Given the description of an element on the screen output the (x, y) to click on. 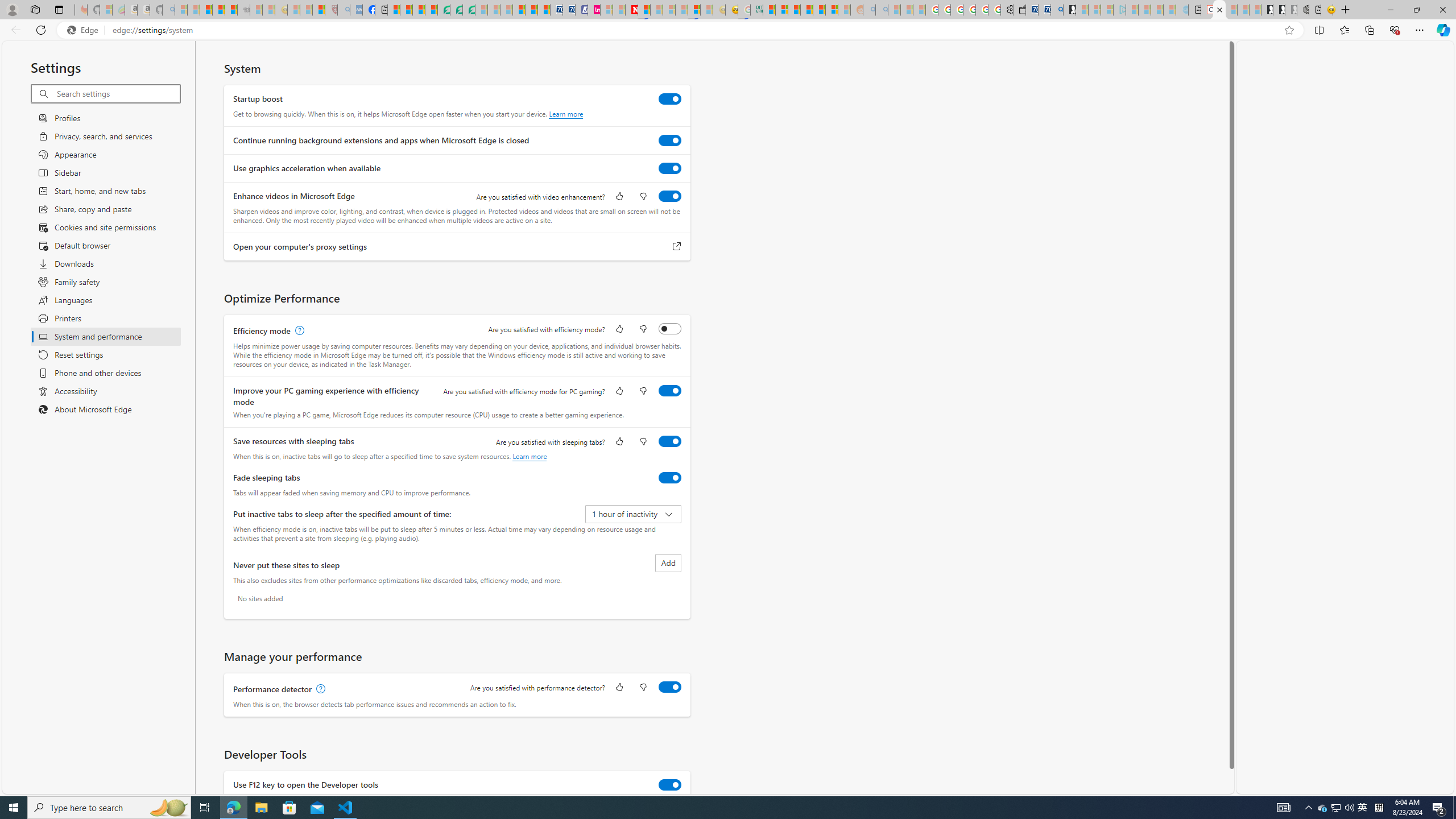
Improve your PC gaming experience with efficiency mode (669, 390)
Search settings (117, 93)
Save resources with sleeping tabs (669, 441)
